Given the description of an element on the screen output the (x, y) to click on. 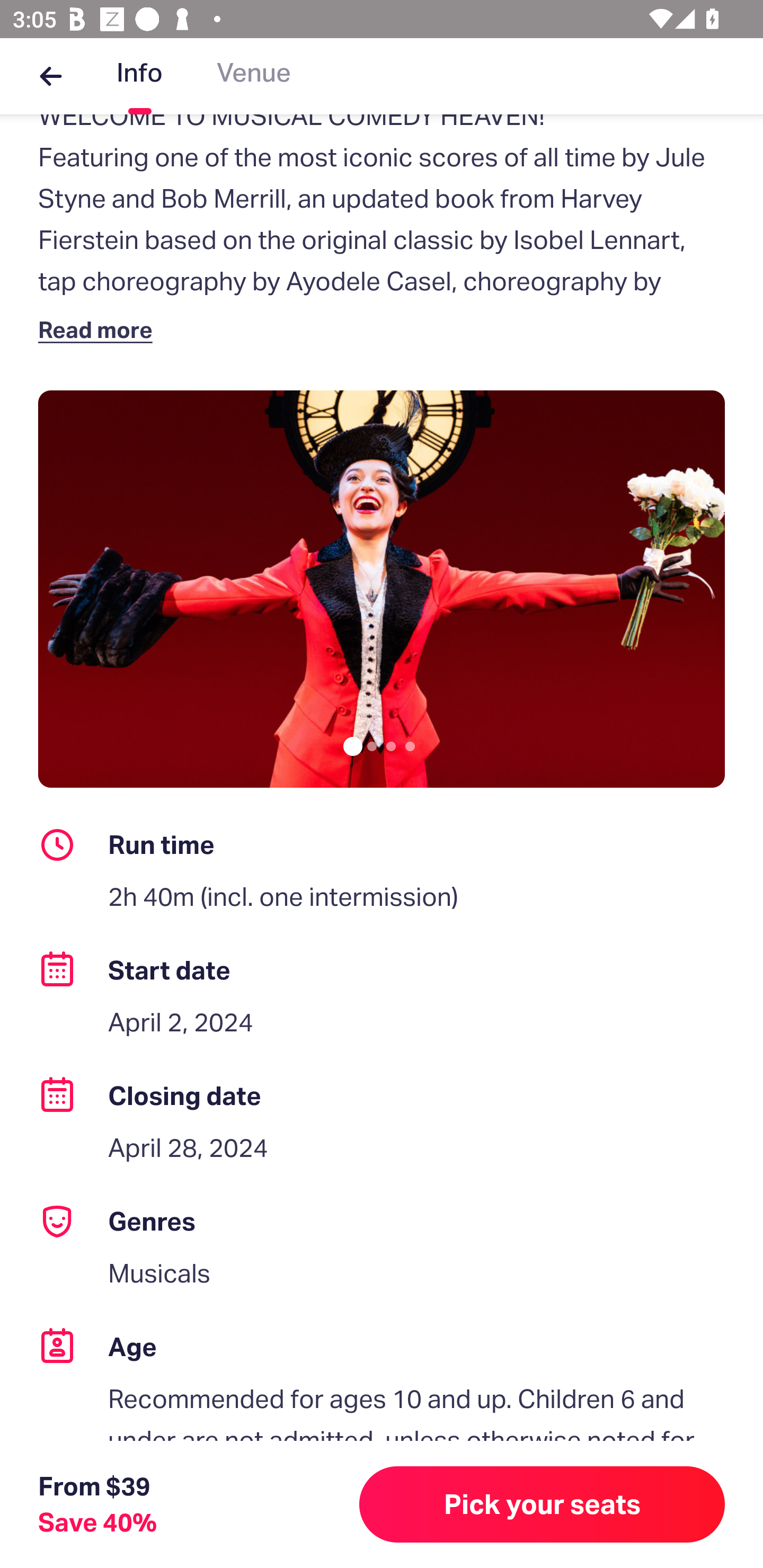
Venue (253, 75)
Read more (99, 328)
Pick your seats (541, 1504)
